Given the description of an element on the screen output the (x, y) to click on. 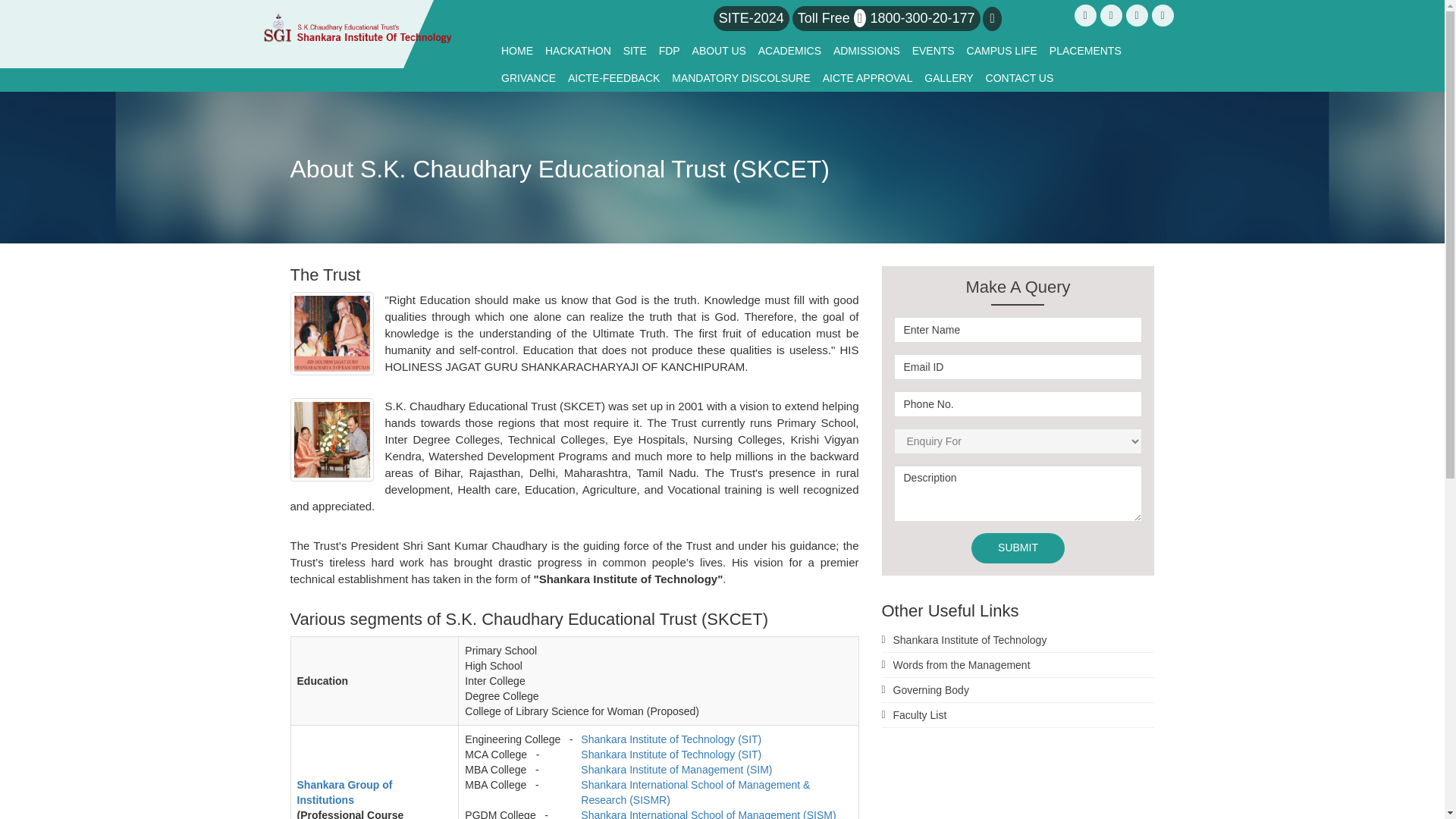
1800-300-20-177 (921, 17)
HOME (516, 50)
FDP (668, 50)
HACKATHON (577, 50)
SITE-2024 (751, 17)
ABOUT US (719, 50)
SITE (634, 50)
ACADEMICS (789, 50)
